Given the description of an element on the screen output the (x, y) to click on. 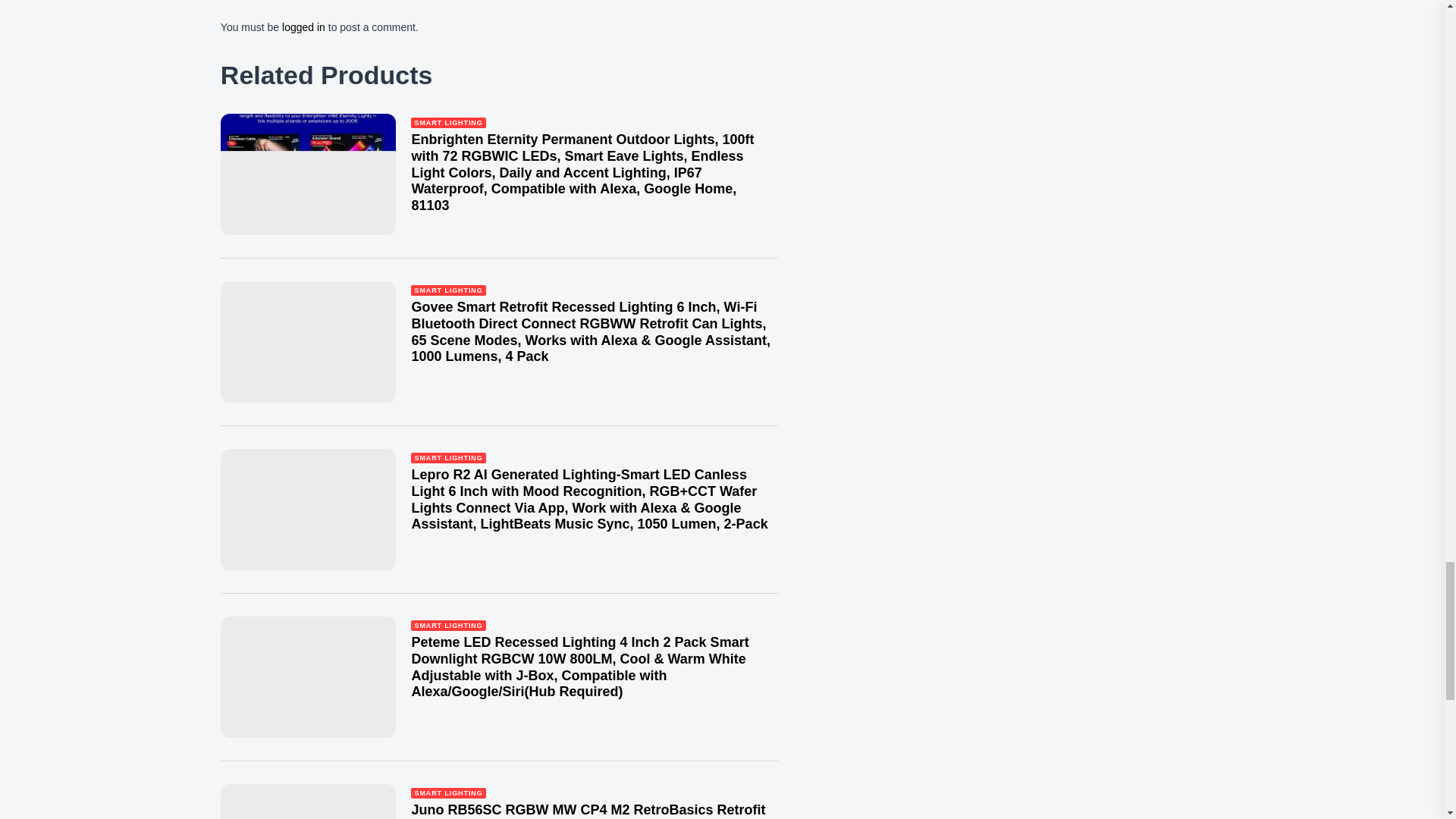
SMART LIGHTING (447, 458)
logged in (303, 27)
SMART LIGHTING (447, 290)
SMART LIGHTING (447, 122)
SMART LIGHTING (447, 793)
SMART LIGHTING (447, 625)
